Given the description of an element on the screen output the (x, y) to click on. 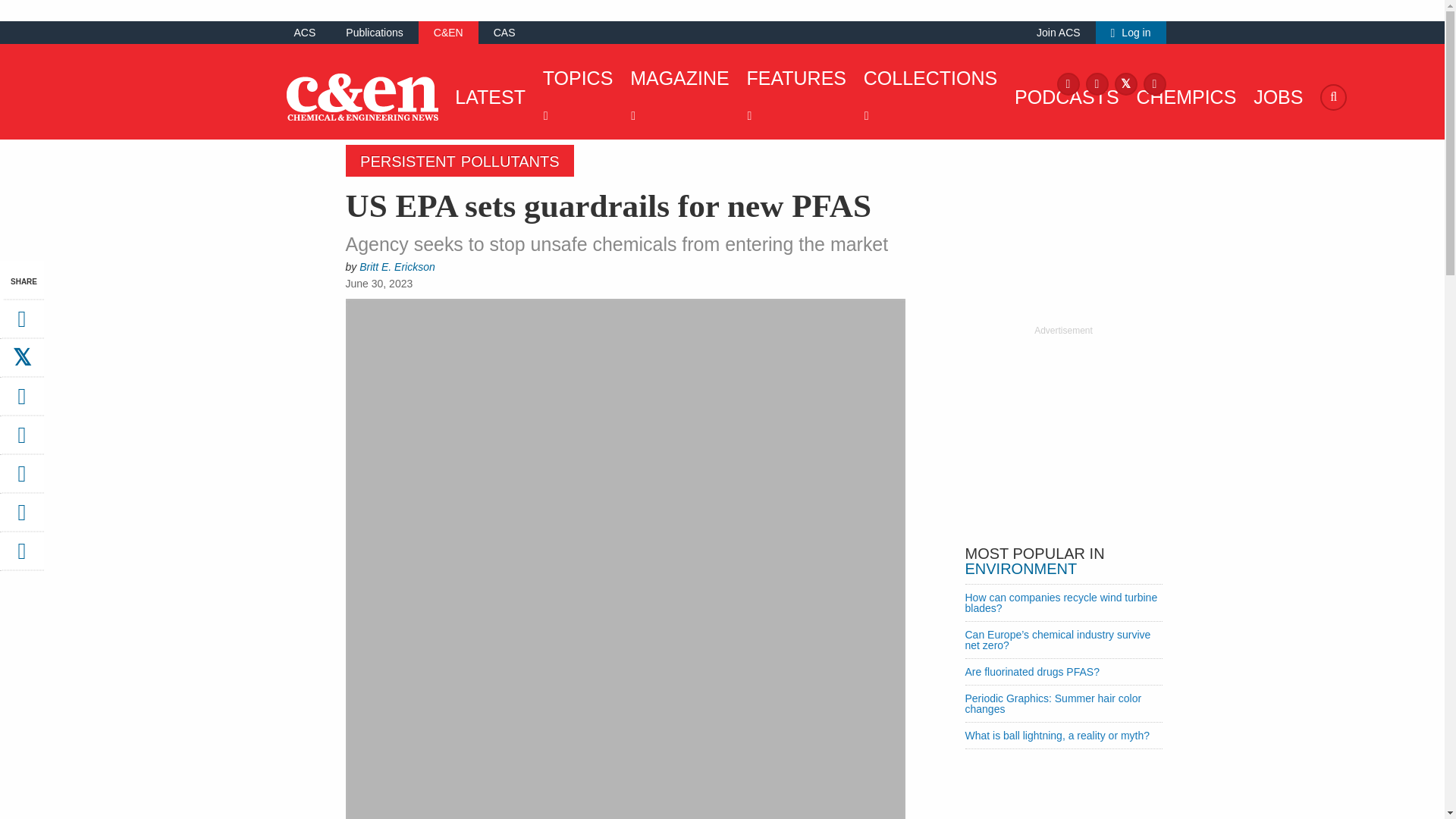
Log in (1130, 32)
Facebook (1068, 82)
ACS (304, 32)
CAS (504, 32)
Instagram (1097, 82)
Publications (374, 32)
LinkedIn (1154, 82)
Join ACS (1058, 32)
3rd party ad content (1062, 432)
LATEST (485, 96)
